Given the description of an element on the screen output the (x, y) to click on. 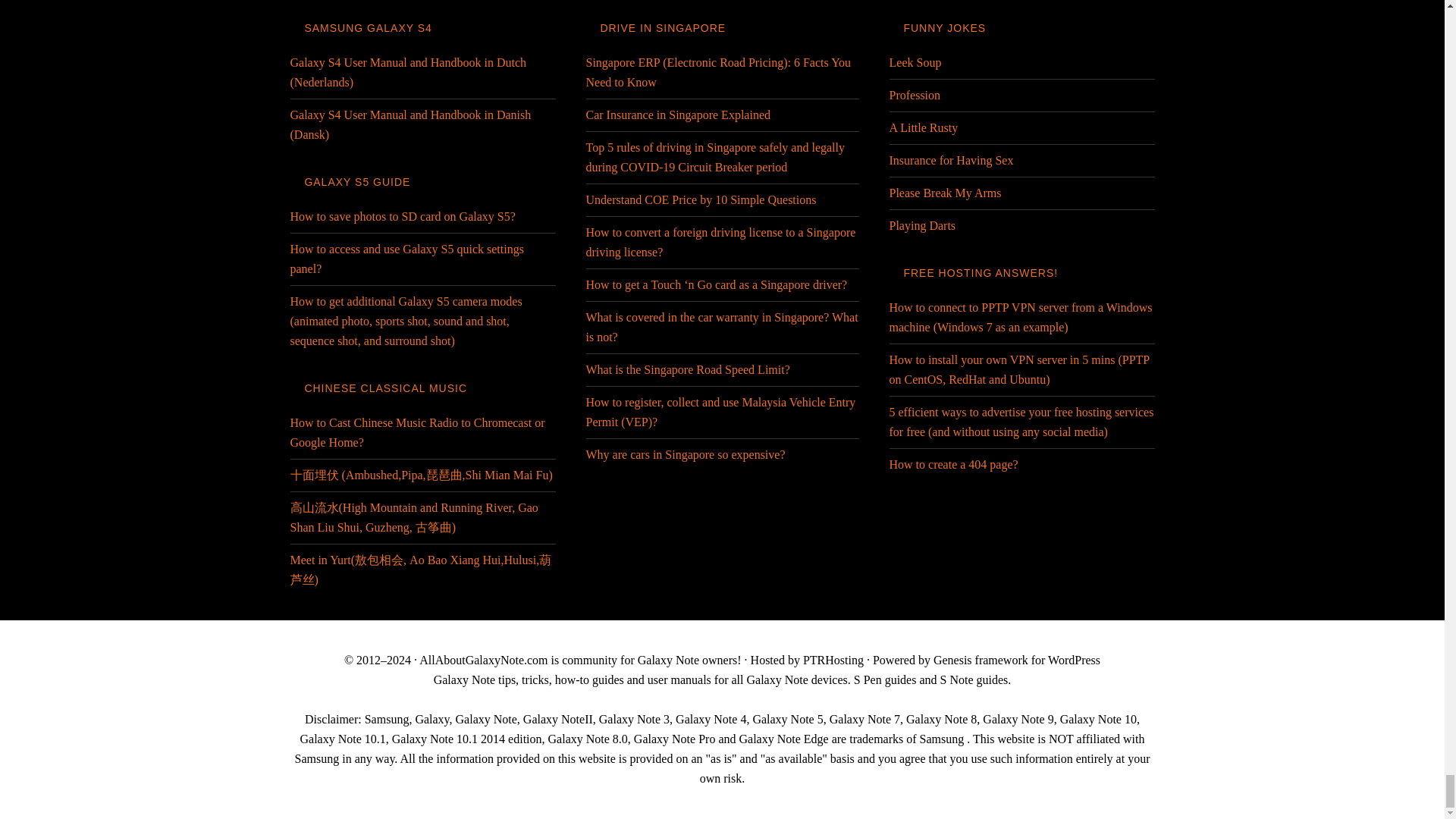
web presence solutions (833, 659)
